Given the description of an element on the screen output the (x, y) to click on. 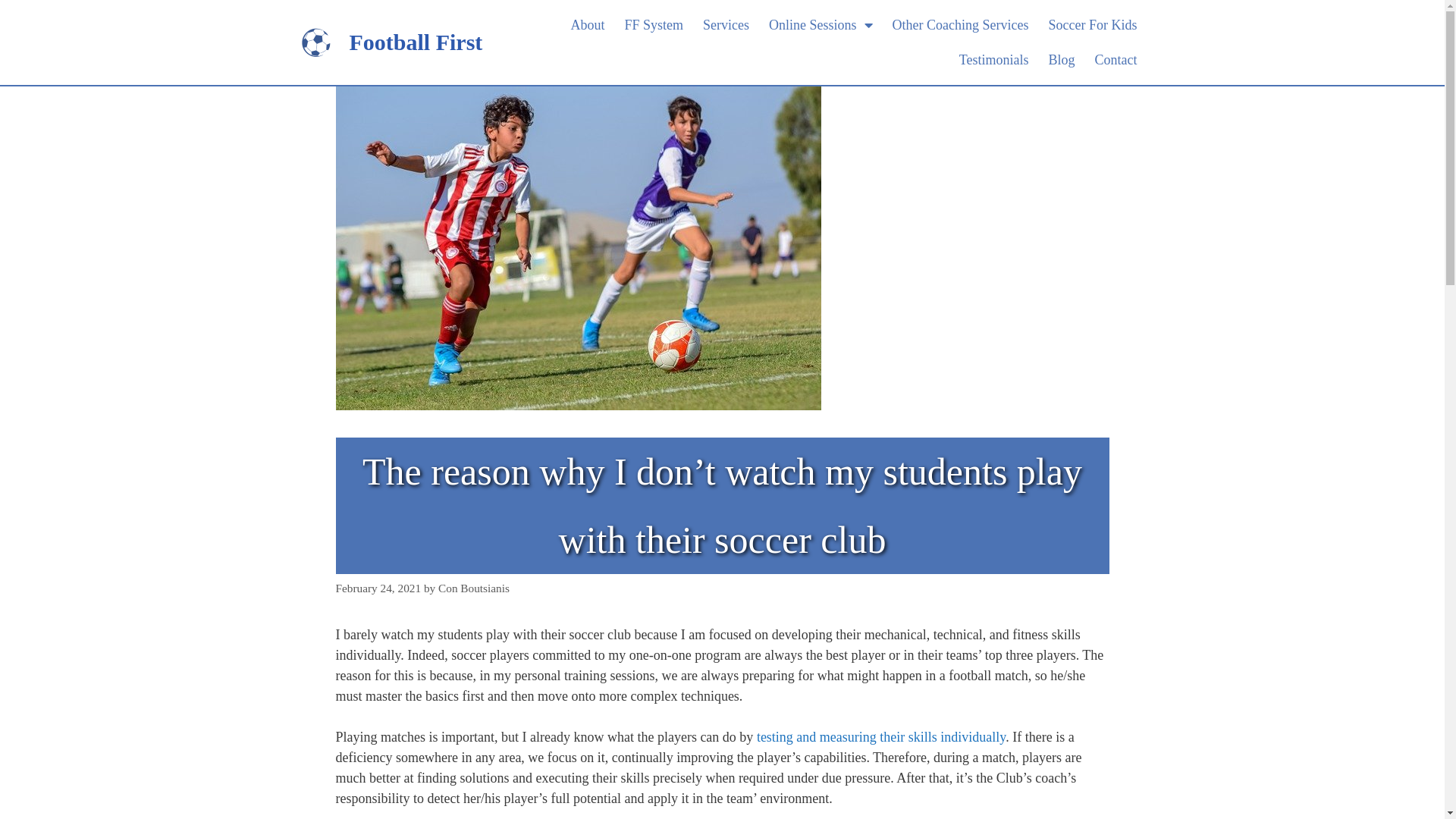
ff_blue_logo Element type: hover (315, 42)
About Element type: text (587, 24)
Testimonials Element type: text (993, 59)
Services Element type: text (726, 24)
Other Coaching Services Element type: text (960, 24)
Online Sessions Element type: text (820, 24)
Blog Element type: text (1061, 59)
Football First Element type: text (415, 41)
testing and measuring their skills individually Element type: text (880, 736)
Soccer For Kids Element type: text (1092, 24)
Contact Element type: text (1115, 59)
FF System Element type: text (653, 24)
Con Boutsianis Element type: text (473, 587)
